Given the description of an element on the screen output the (x, y) to click on. 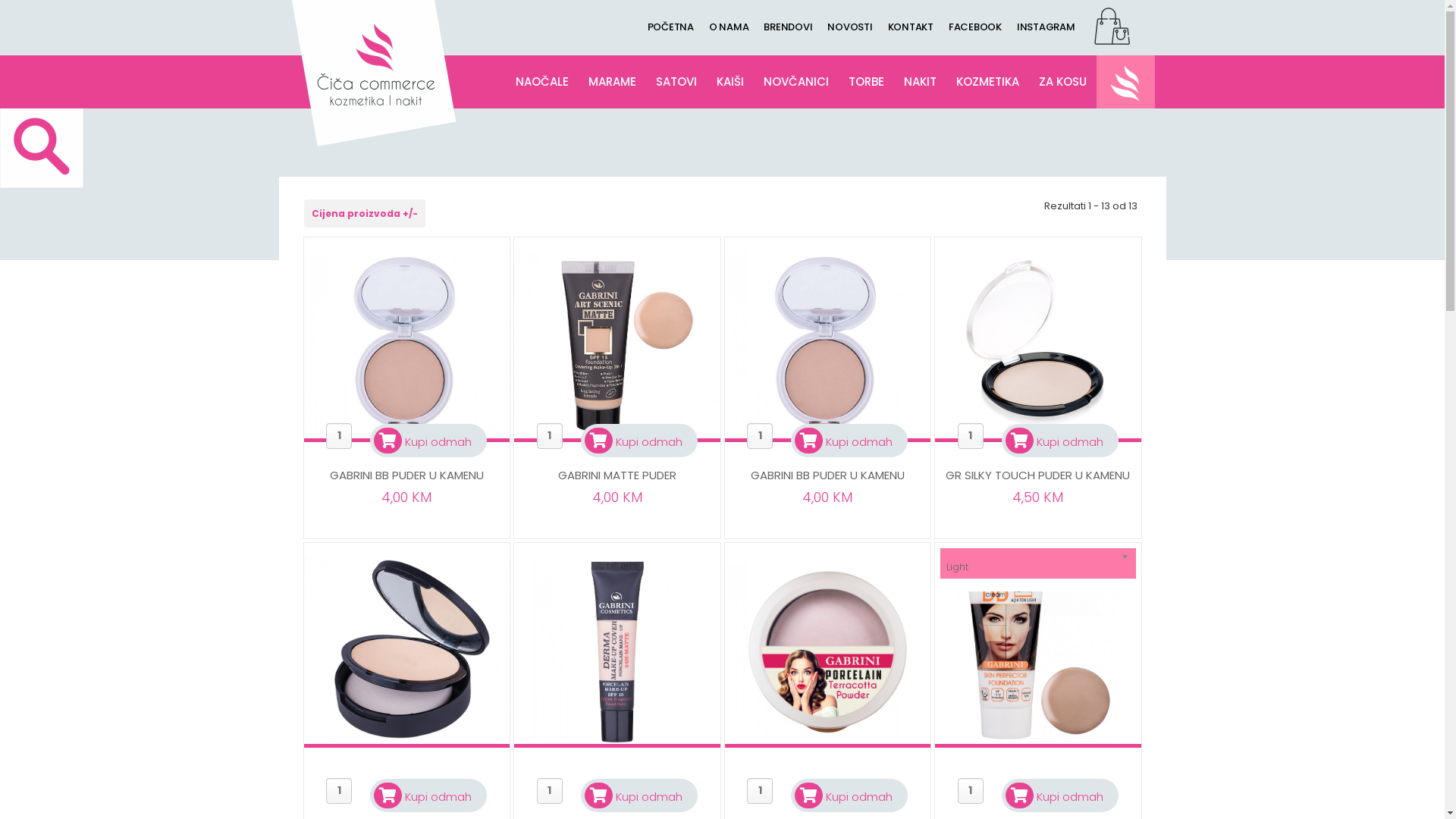
INSTAGRAM Element type: text (1045, 27)
FACEBOOK Element type: text (975, 27)
NAKIT Element type: text (920, 81)
SATOVI Element type: text (676, 81)
Gabrini BB Krema Element type: hover (1037, 647)
Gabrini Porculan Puder u Kamenu Element type: hover (827, 639)
ZA KOSU Element type: text (1062, 81)
TORBE Element type: text (866, 81)
BRENDOVI Element type: text (787, 27)
Kupi odmah Element type: text (422, 796)
Kupi odmah Element type: text (843, 441)
Light Element type: text (1037, 563)
O NAMA Element type: text (728, 27)
KOZMETIKA Element type: text (987, 81)
GABRINI MATTE PUDER Element type: text (617, 475)
GR Silky Touch Puder u Kamenu Element type: hover (1037, 342)
Gabrini Matte Puder Element type: hover (617, 339)
Gabrini Professional Matte Puder u Kamenu Element type: hover (406, 646)
Kupi odmah Element type: text (1054, 796)
GABRINI BB PUDER U KAMENU Element type: text (406, 475)
Gabrini DERMA Puder Element type: hover (616, 647)
Kupi odmah Element type: text (422, 441)
Kupi odmah Element type: text (843, 796)
Gabrini BB Puder u Kamenu Element type: hover (827, 340)
Kupi odmah Element type: text (633, 441)
Cijena proizvoda +/- Element type: text (363, 213)
Kupi odmah Element type: text (633, 796)
Kupi odmah Element type: text (1054, 441)
KONTAKT Element type: text (909, 27)
NOVOSTI Element type: text (849, 27)
Gabrini BB Puder u Kamenu Element type: hover (406, 338)
MARAME Element type: text (612, 81)
GABRINI BB PUDER U KAMENU Element type: text (827, 475)
GR SILKY TOUCH PUDER U KAMENU Element type: text (1037, 475)
